Given the description of an element on the screen output the (x, y) to click on. 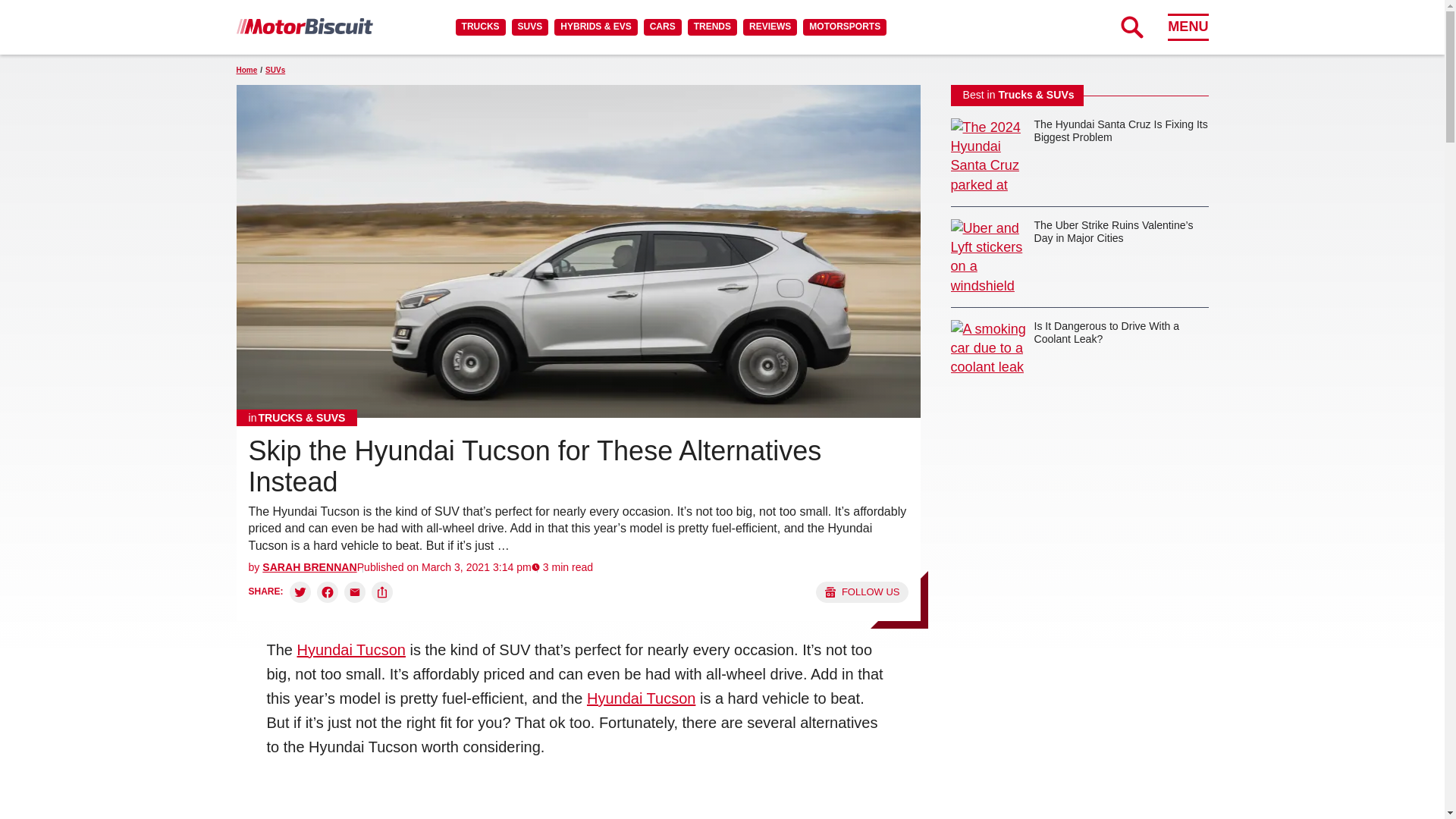
MENU (1187, 26)
Expand Search (1131, 26)
TRUCKS (480, 26)
MOTORSPORTS (844, 26)
Follow us on Google News (861, 591)
Copy link and share:  (382, 591)
SUVS (530, 26)
CARS (662, 26)
REVIEWS (769, 26)
TRENDS (711, 26)
